Given the description of an element on the screen output the (x, y) to click on. 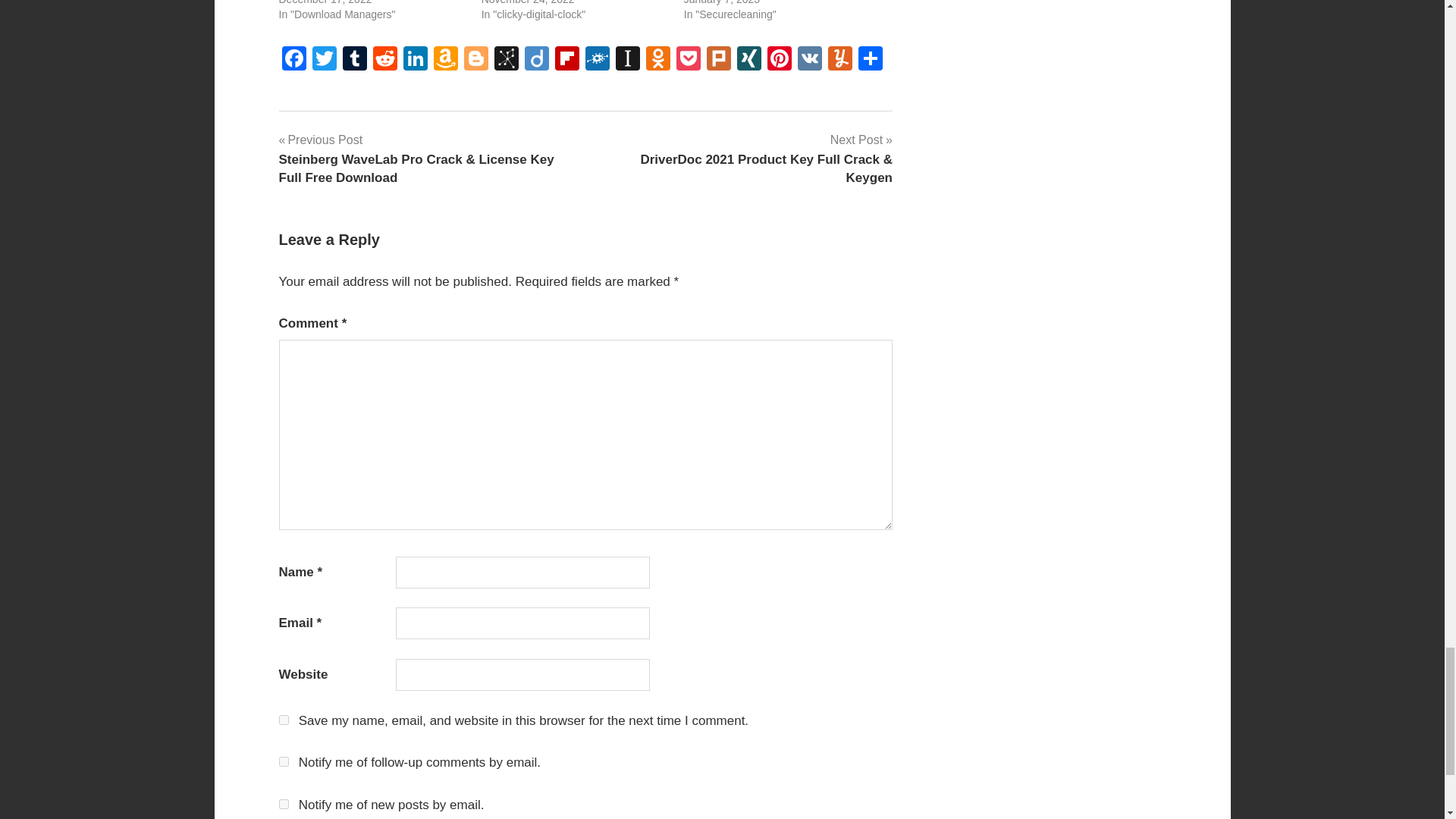
Blogger (476, 59)
BibSonomy (506, 59)
Reddit (384, 59)
LinkedIn (415, 59)
Tumblr (354, 59)
yes (283, 719)
Blogger (476, 59)
Pocket (687, 59)
Twitter (323, 59)
Twitter (323, 59)
Instapaper (627, 59)
subscribe (283, 761)
Facebook (293, 59)
Tumblr (354, 59)
subscribe (283, 804)
